Given the description of an element on the screen output the (x, y) to click on. 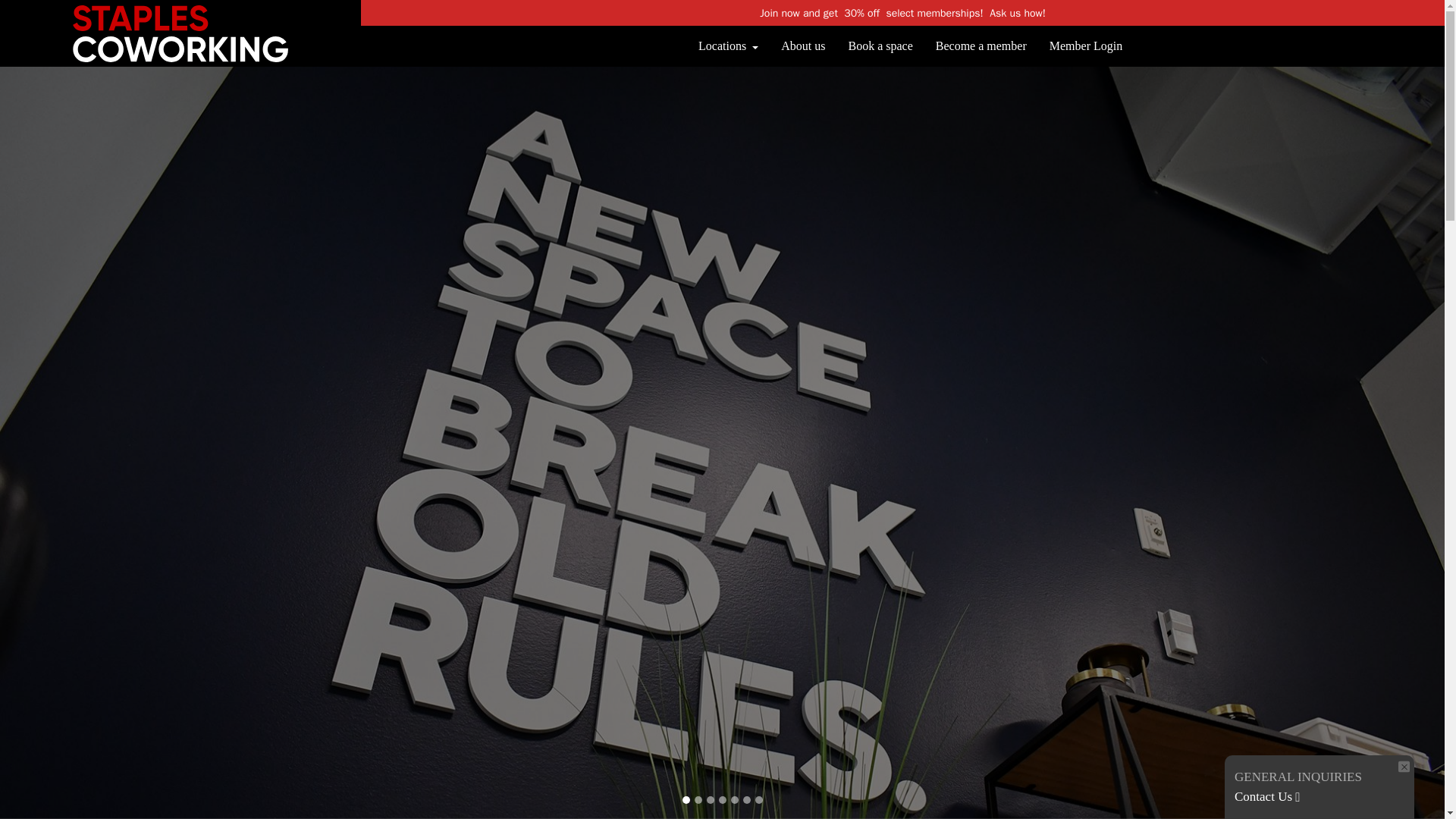
Become a member (980, 46)
Member Login (1085, 46)
About us (802, 46)
Locations (727, 46)
Staples Coworking (82, 22)
Ask us how! (1017, 12)
Book a space (879, 46)
